Given the description of an element on the screen output the (x, y) to click on. 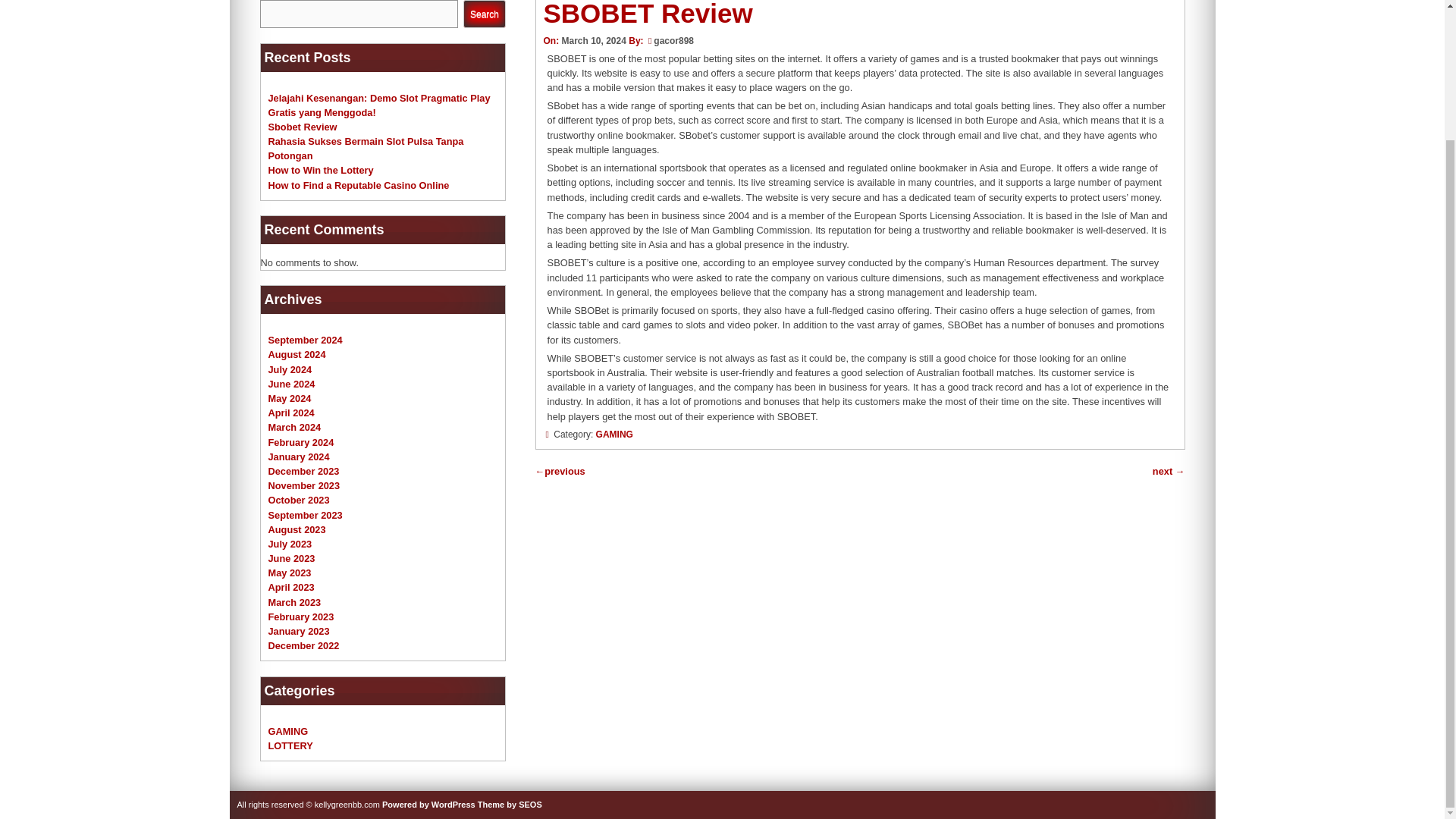
March 10, 2024 (593, 40)
April 2023 (290, 586)
Rahasia Sukses Bermain Slot Pulsa Tanpa Potongan (365, 148)
September 2023 (304, 514)
May 2023 (289, 572)
March 2023 (294, 602)
GAMING (287, 731)
April 2024 (290, 412)
March 2024 (294, 427)
Sbobet Review (302, 126)
